Given the description of an element on the screen output the (x, y) to click on. 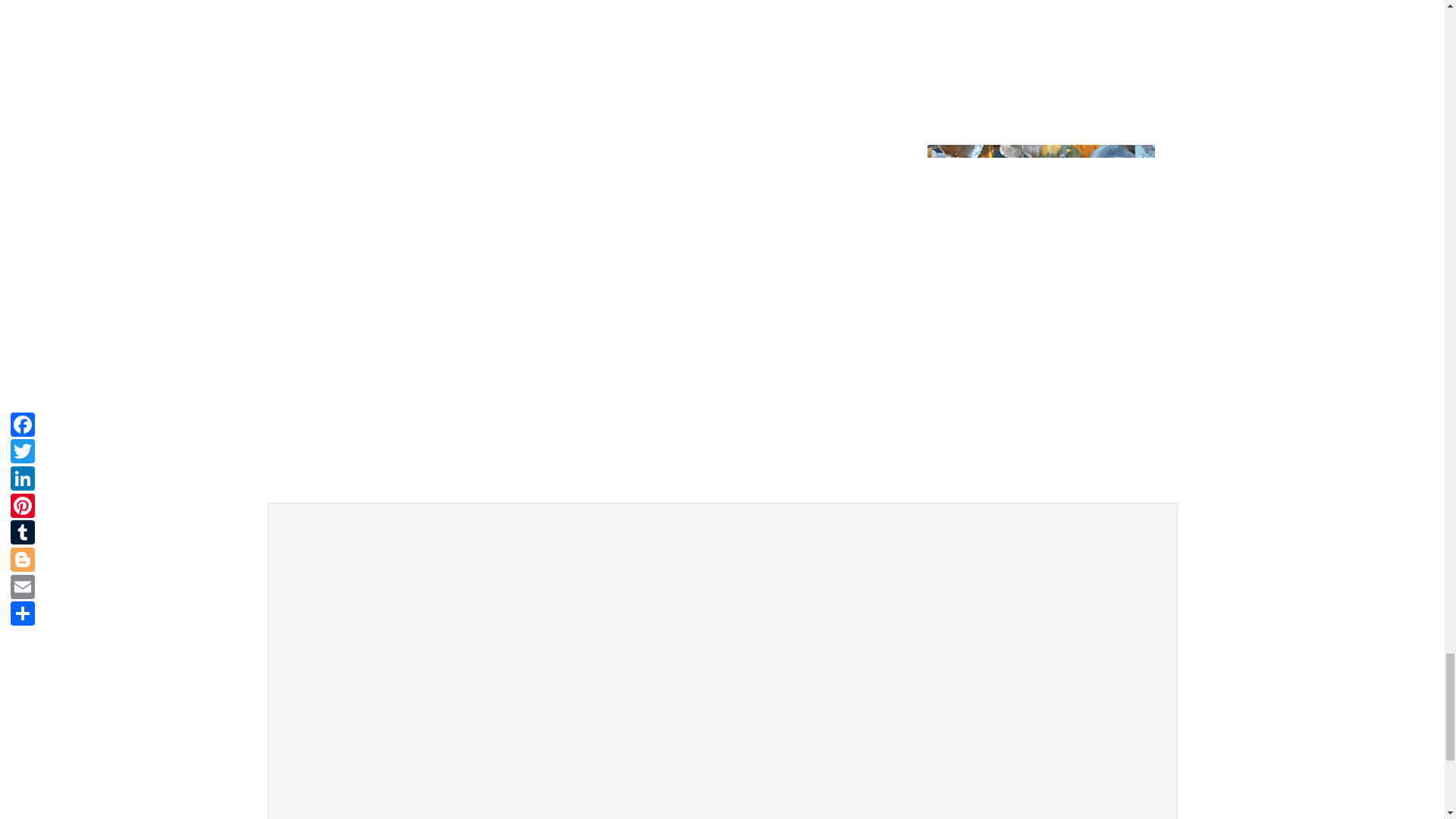
3rd party ad content (494, 771)
3rd party ad content (948, 608)
3rd party ad content (494, 608)
3rd party ad content (948, 771)
